Given the description of an element on the screen output the (x, y) to click on. 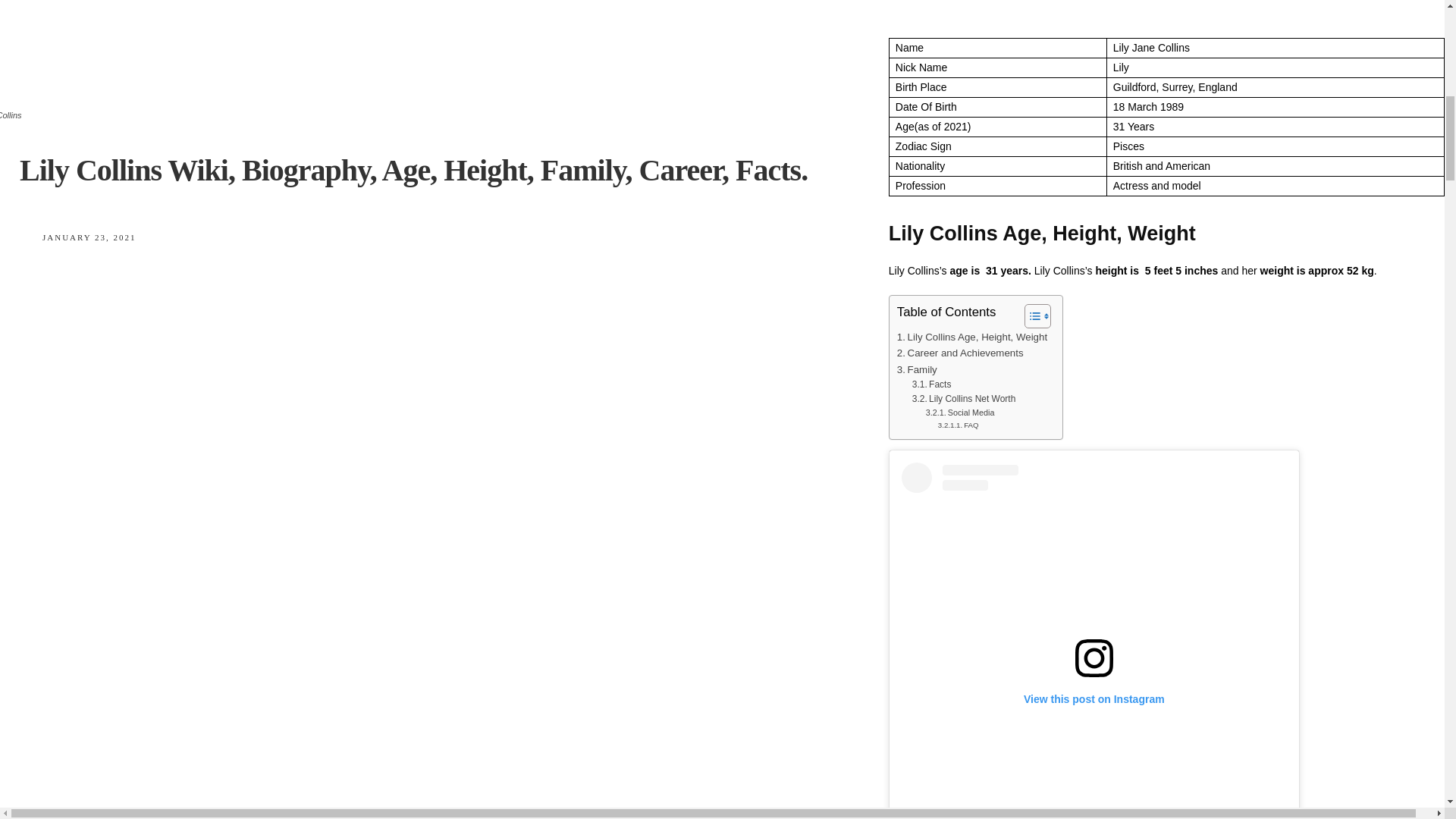
Social Media (960, 412)
Family (916, 369)
Facts (932, 384)
FAQ (957, 425)
Lily Collins Age, Height, Weight (971, 336)
Career and Achievements (959, 352)
